Given the description of an element on the screen output the (x, y) to click on. 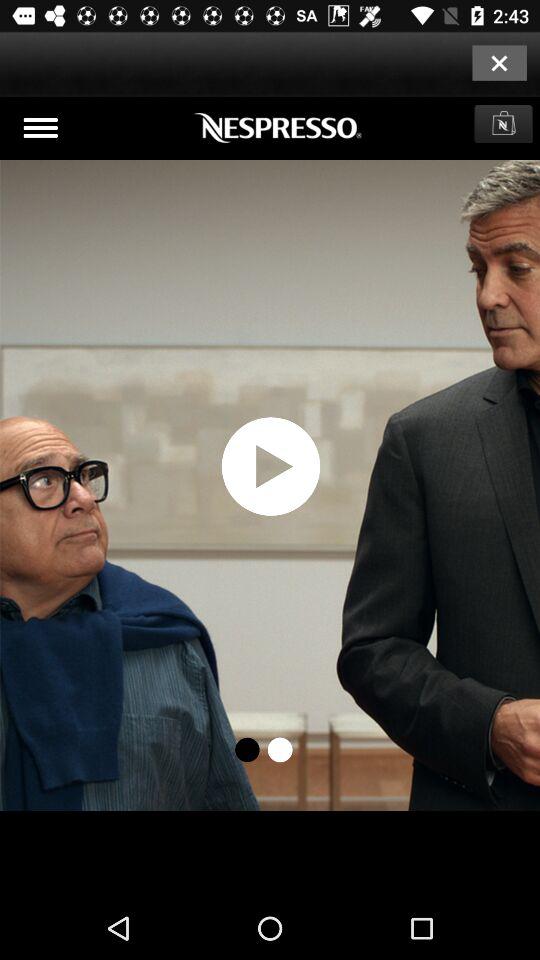
close option (499, 62)
